Given the description of an element on the screen output the (x, y) to click on. 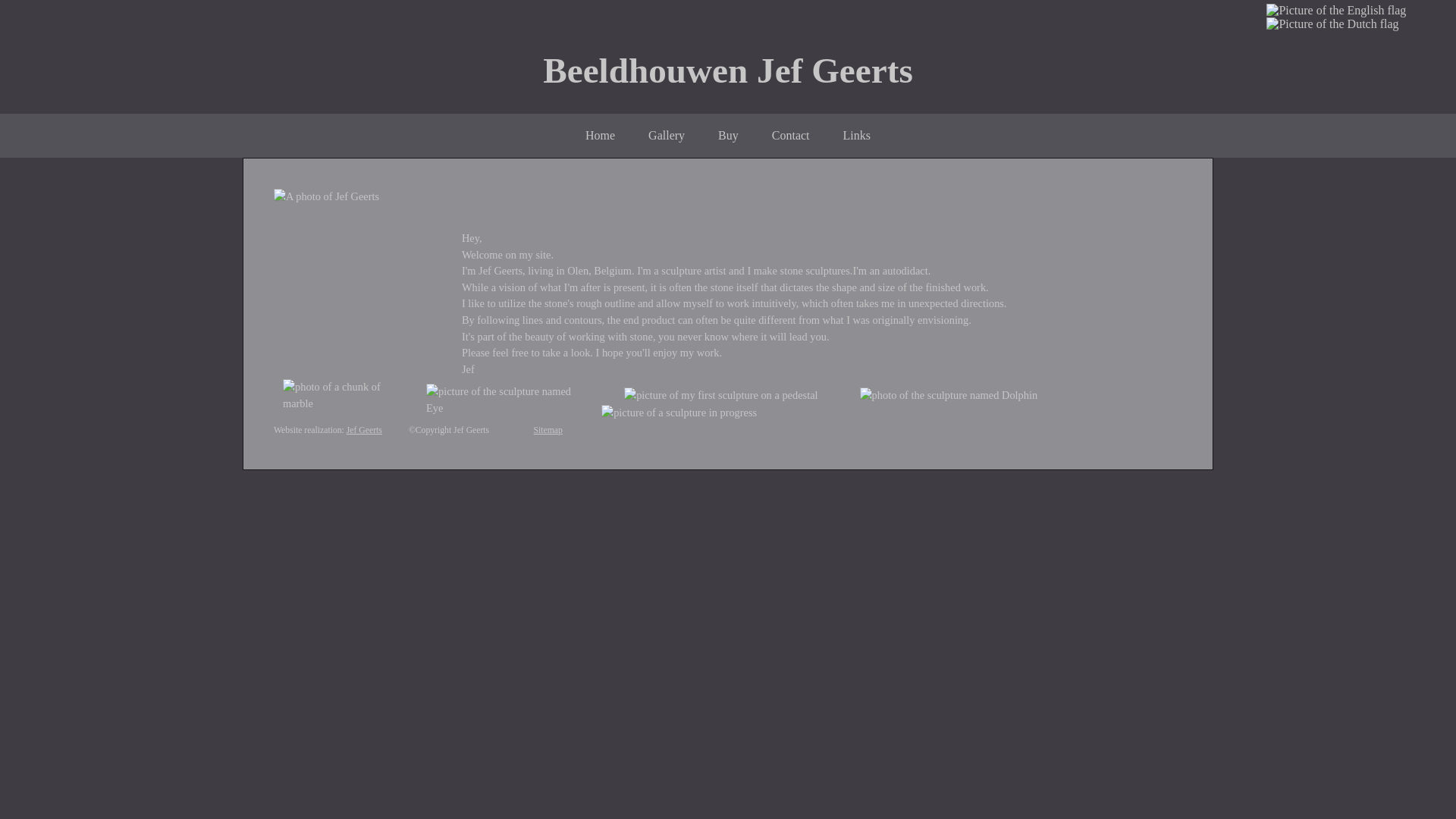
Contact Element type: text (790, 134)
Buy Element type: text (728, 134)
Links Element type: text (856, 134)
Jef Geerts Element type: text (364, 430)
Home Element type: text (600, 134)
Sitemap Element type: text (547, 430)
Gallery Element type: text (666, 134)
